Given the description of an element on the screen output the (x, y) to click on. 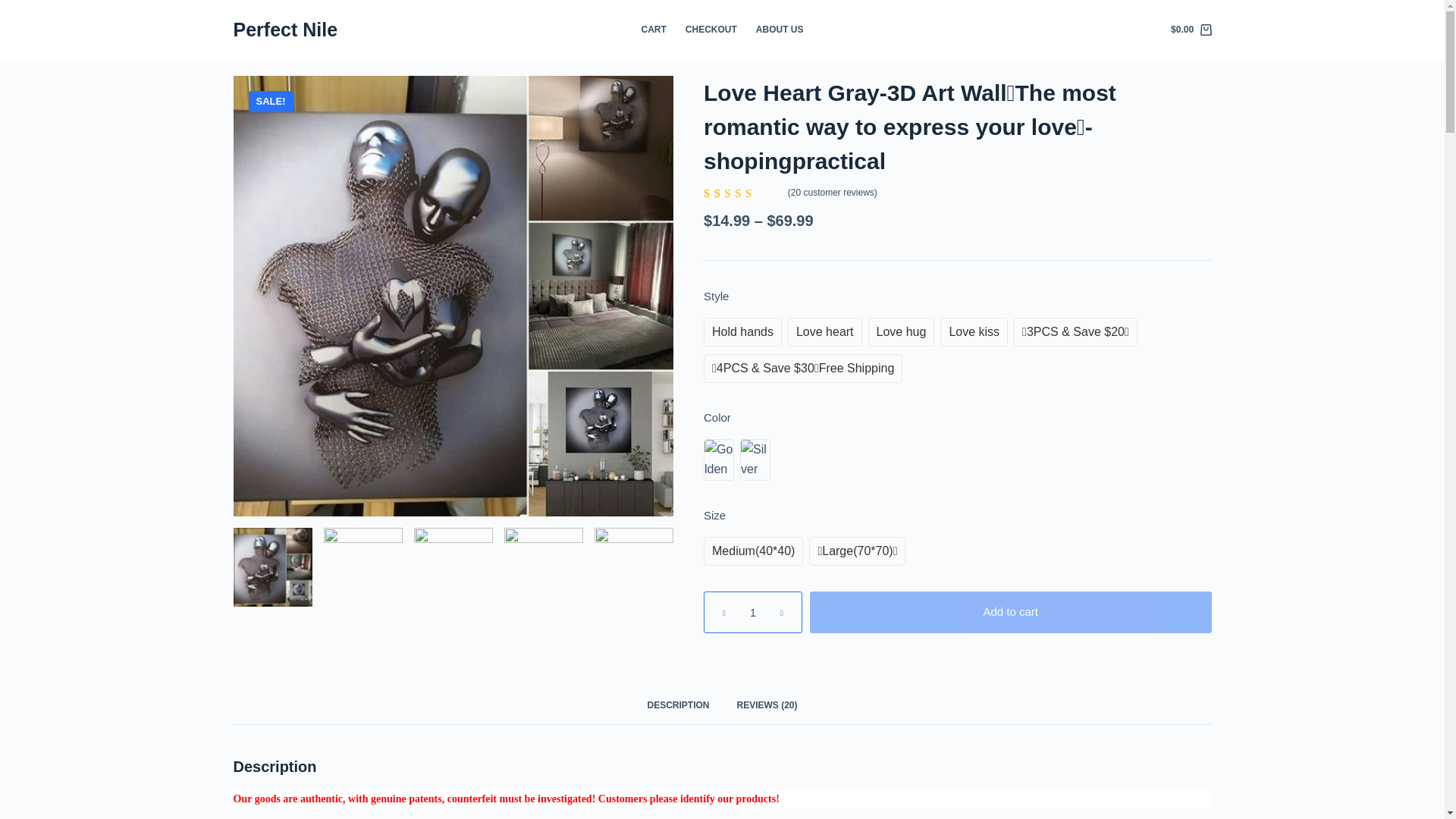
Skip to content (15, 7)
1 (752, 612)
ABOUT US (778, 30)
Add to cart (1010, 612)
CHECKOUT (710, 30)
Perfect Nile (284, 29)
DESCRIPTION (677, 705)
